Given the description of an element on the screen output the (x, y) to click on. 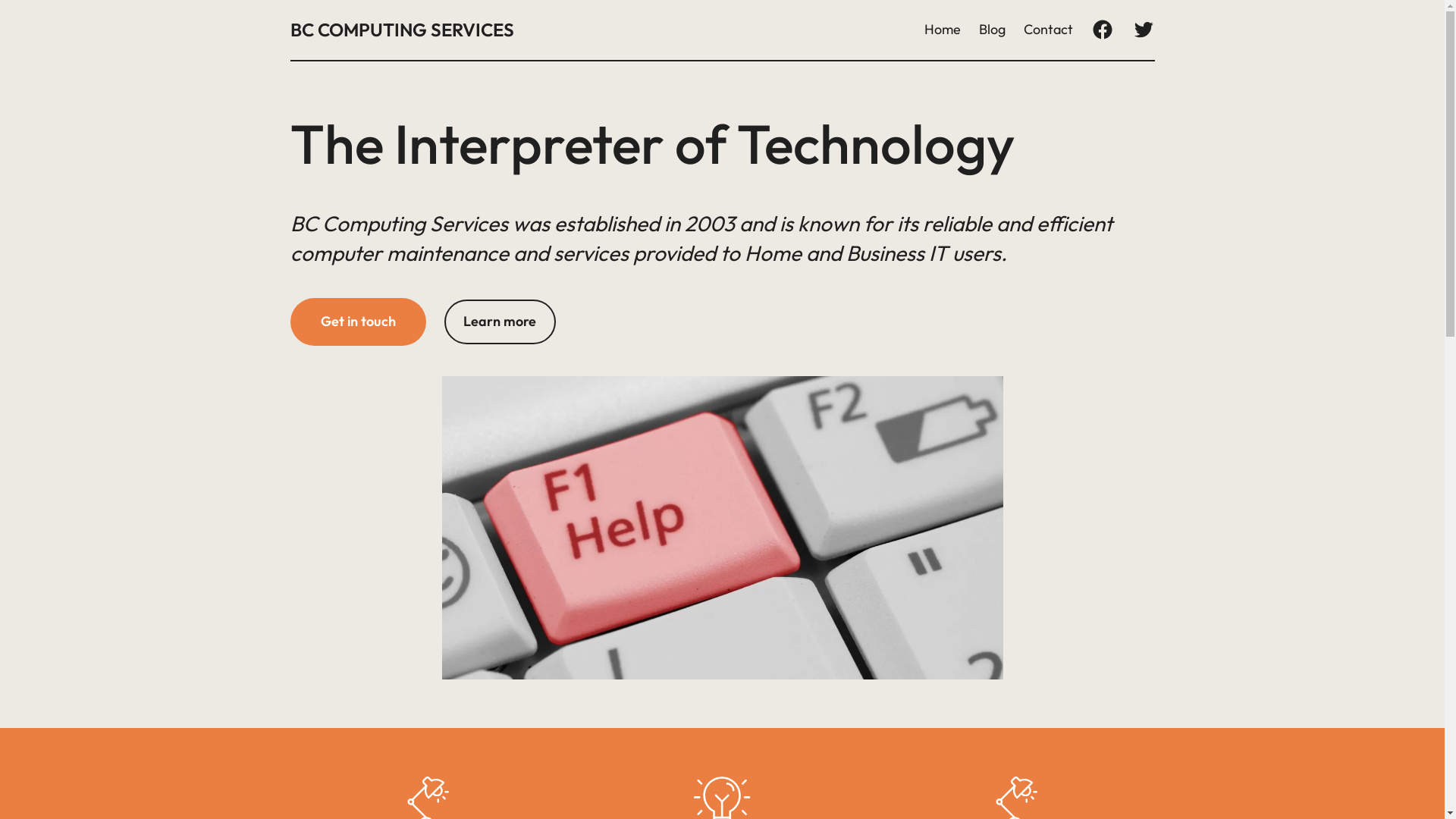
Home Element type: text (941, 29)
BC COMPUTING SERVICES Element type: text (401, 29)
Twitter Element type: text (1142, 29)
Contact Element type: text (1048, 29)
Blog Element type: text (991, 29)
Facebook Element type: text (1101, 29)
Get in touch Element type: text (357, 321)
Learn more Element type: text (500, 321)
